Given the description of an element on the screen output the (x, y) to click on. 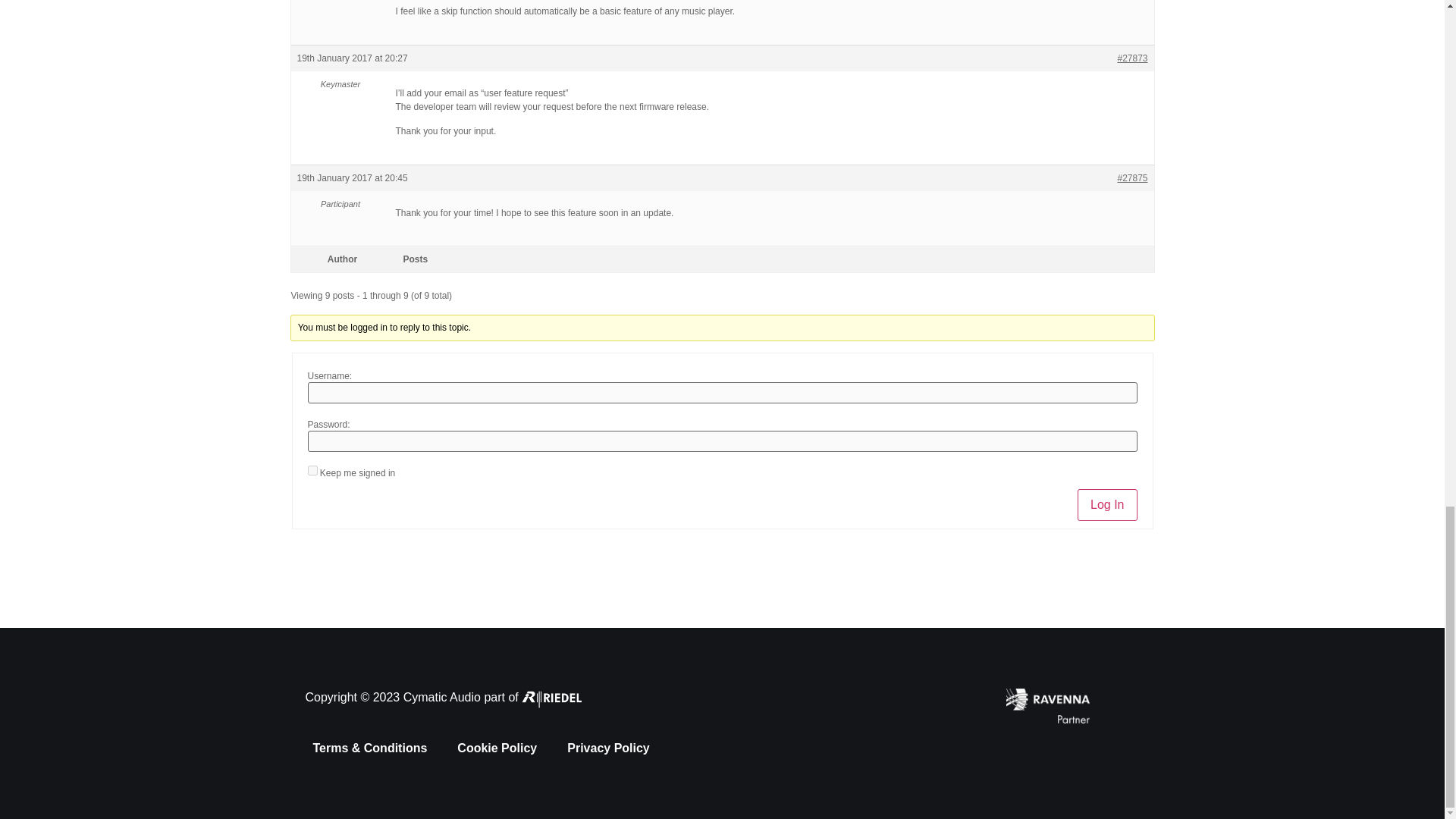
Cookie Policy (496, 748)
forever (312, 470)
Privacy Policy (608, 748)
Log In (1107, 504)
